Given the description of an element on the screen output the (x, y) to click on. 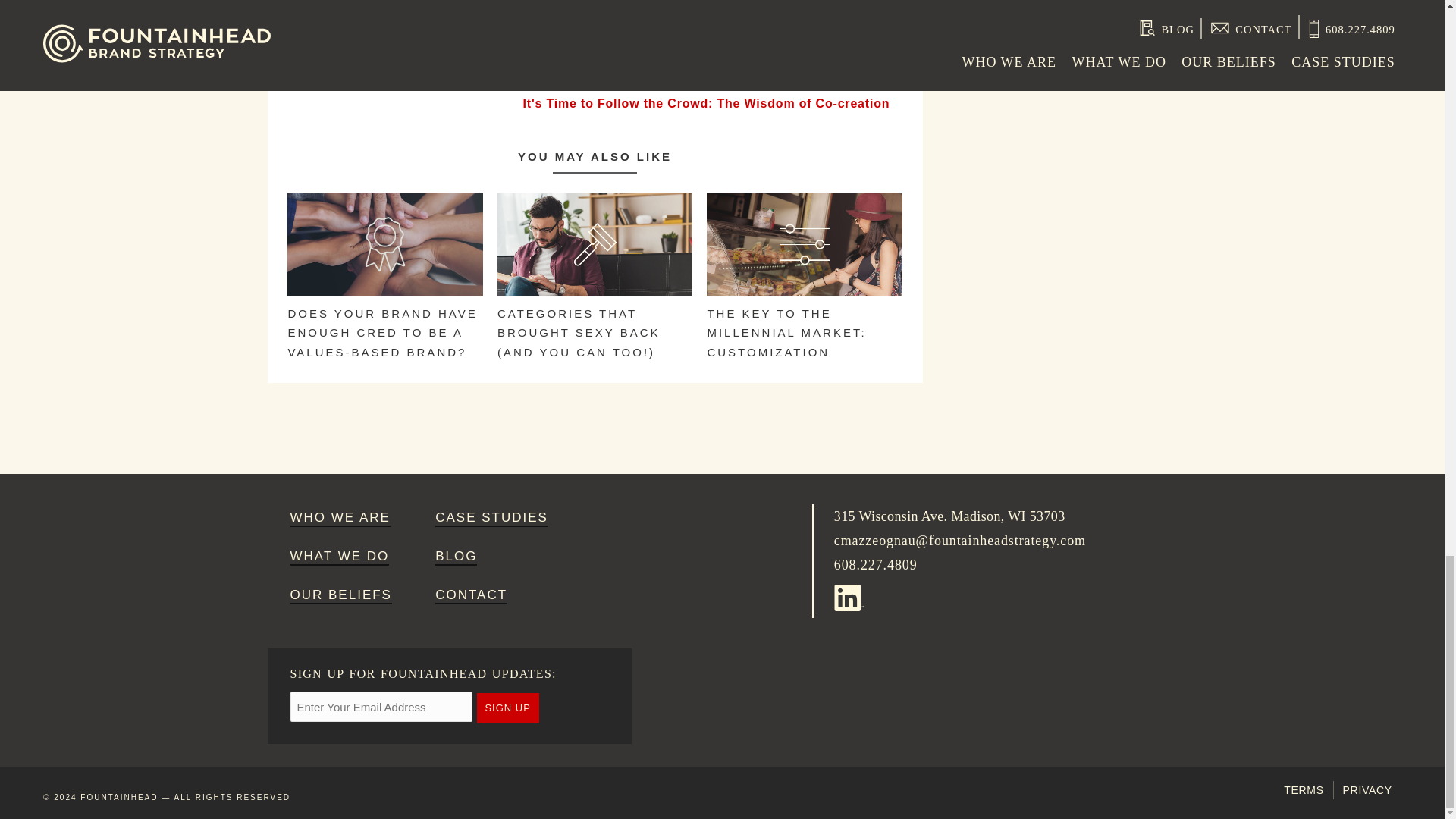
CONTACT (470, 596)
DOES YOUR BRAND HAVE ENOUGH CRED TO BE A VALUES-BASED BRAND? (383, 320)
WHO WE ARE (339, 518)
CASE STUDIES (491, 518)
WHAT WE DO (339, 556)
Does Your Brand Have Enough Cred to Be a Values-Based Brand? (383, 320)
THE KEY TO THE MILLENNIAL MARKET: CUSTOMIZATION (803, 324)
608.227.4809 (875, 564)
The Key to the Millennial Market: Customization (803, 324)
